Given the description of an element on the screen output the (x, y) to click on. 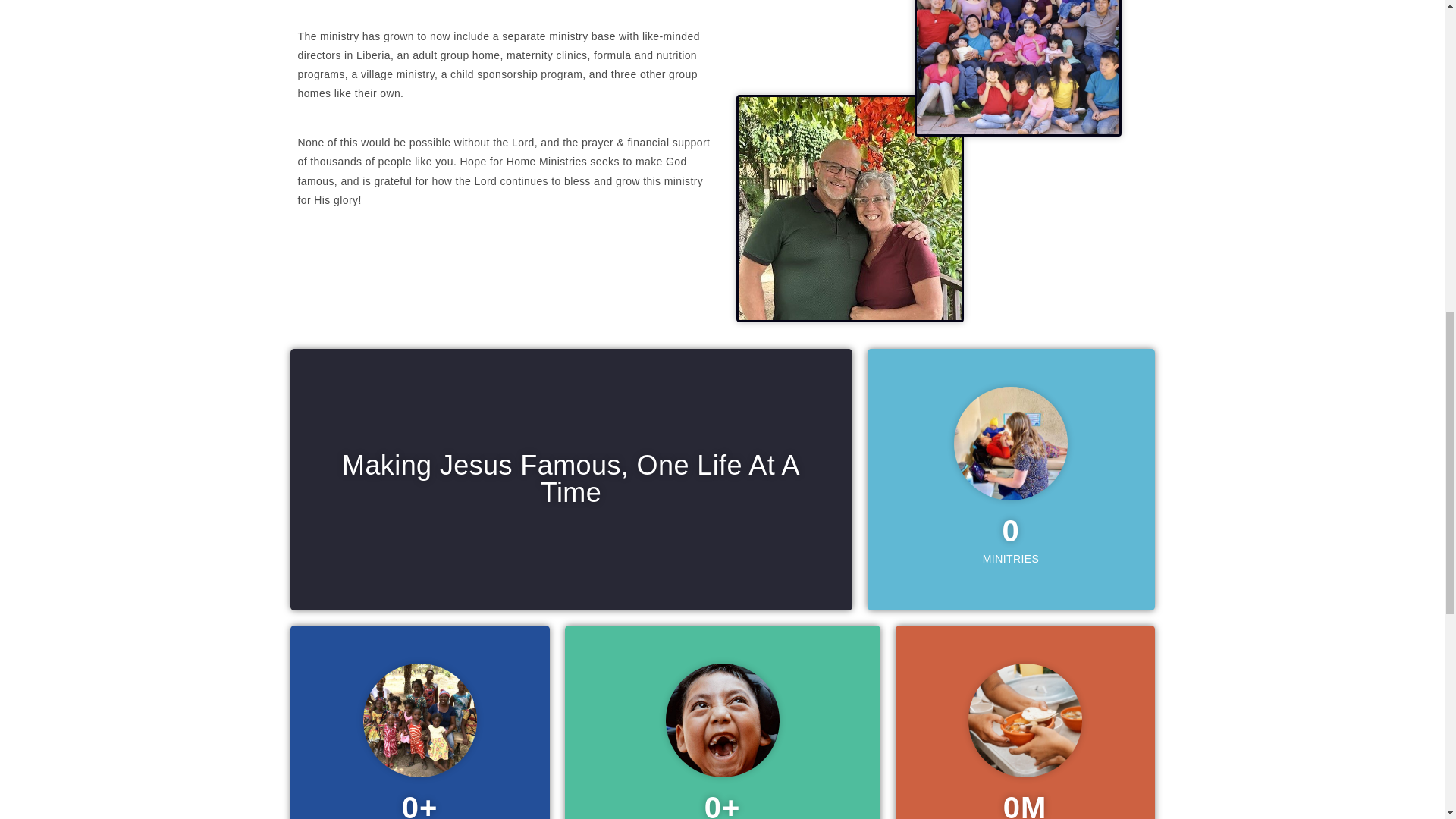
cute couple older (849, 208)
